Given the description of an element on the screen output the (x, y) to click on. 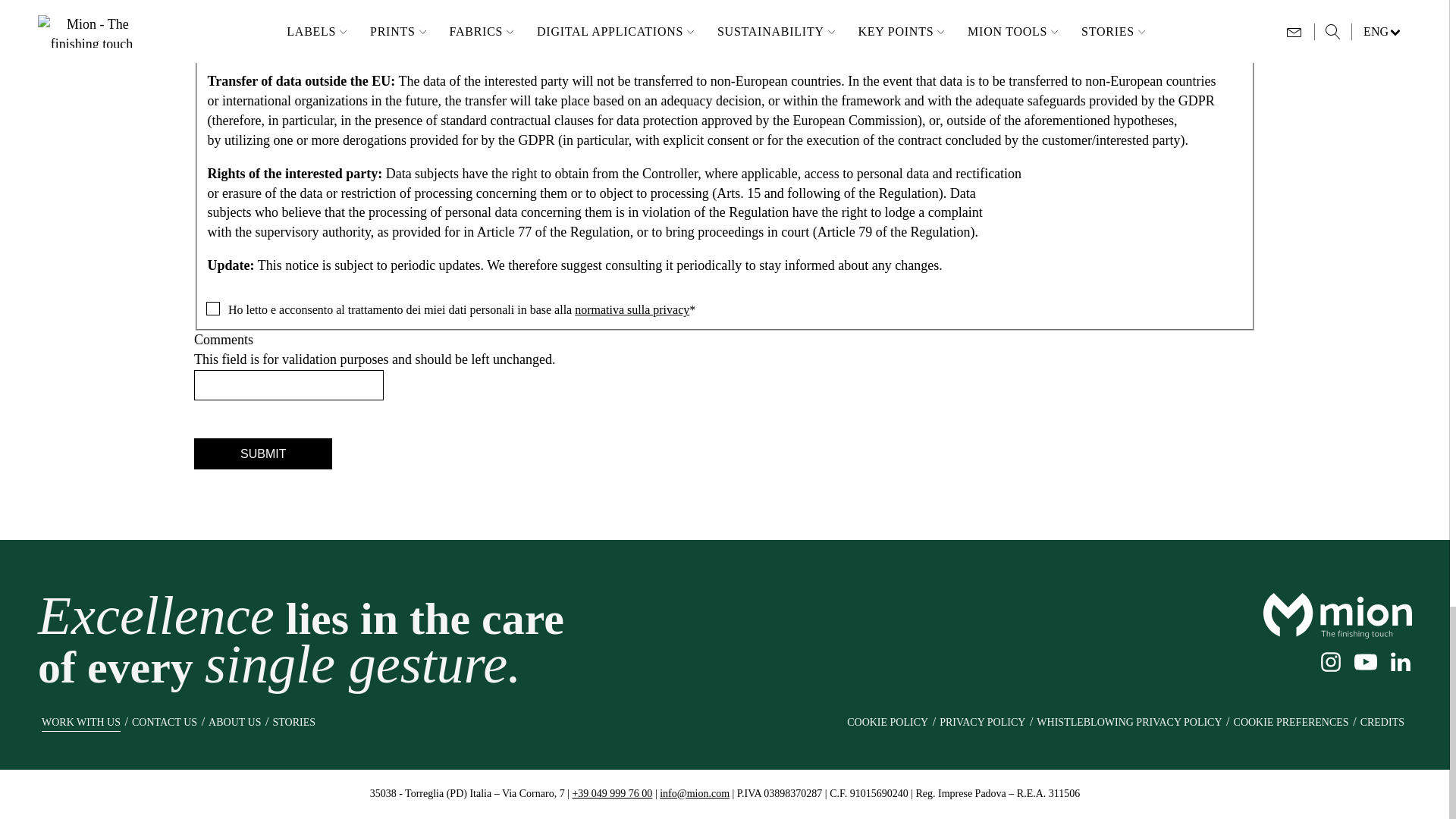
Privacy Policy (631, 309)
1 (212, 307)
Submit (262, 453)
